Given the description of an element on the screen output the (x, y) to click on. 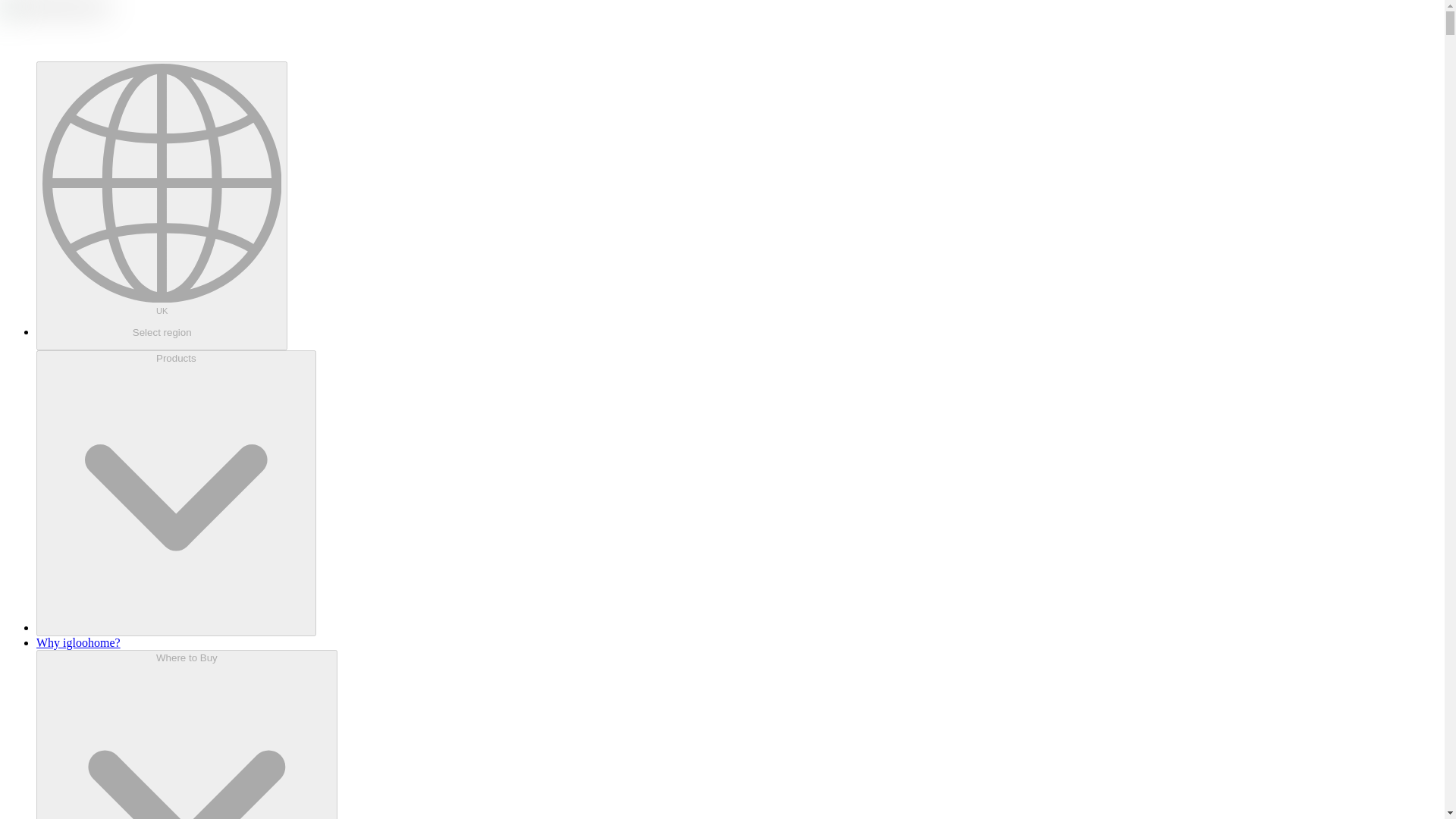
Where to Buy (186, 734)
Why igloohome? (78, 642)
Products (175, 493)
